Given the description of an element on the screen output the (x, y) to click on. 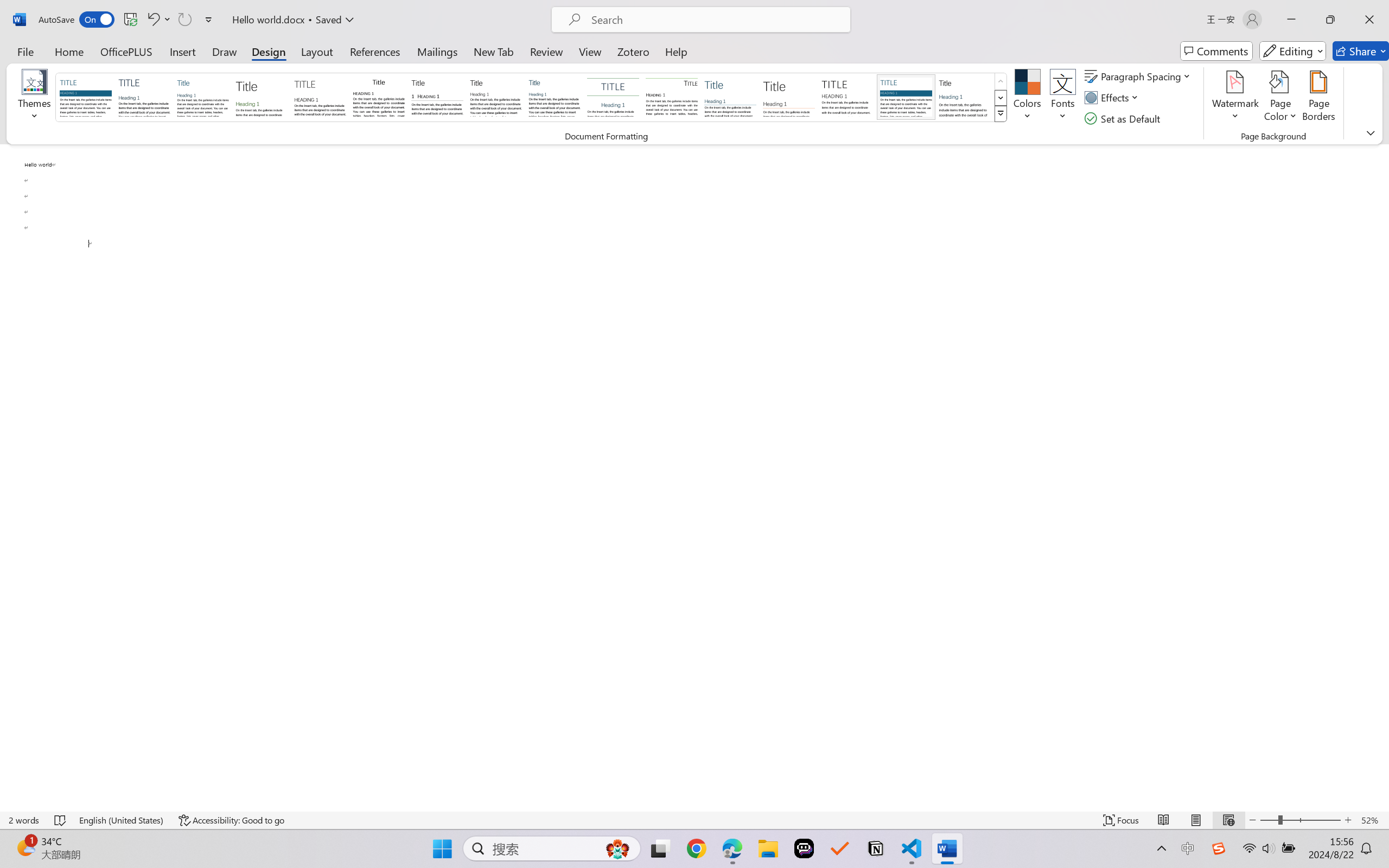
Class: Image (1218, 847)
Basic (Stylish) (260, 96)
Review (546, 51)
More Options (167, 19)
Minimalist (847, 96)
Set as Default (1124, 118)
Word Count 2 words (23, 819)
Can't Repeat (184, 19)
Page Borders... (1318, 97)
Row Down (1000, 97)
Mailings (437, 51)
AutomationID: QuickStylesSets (531, 97)
View (589, 51)
